Given the description of an element on the screen output the (x, y) to click on. 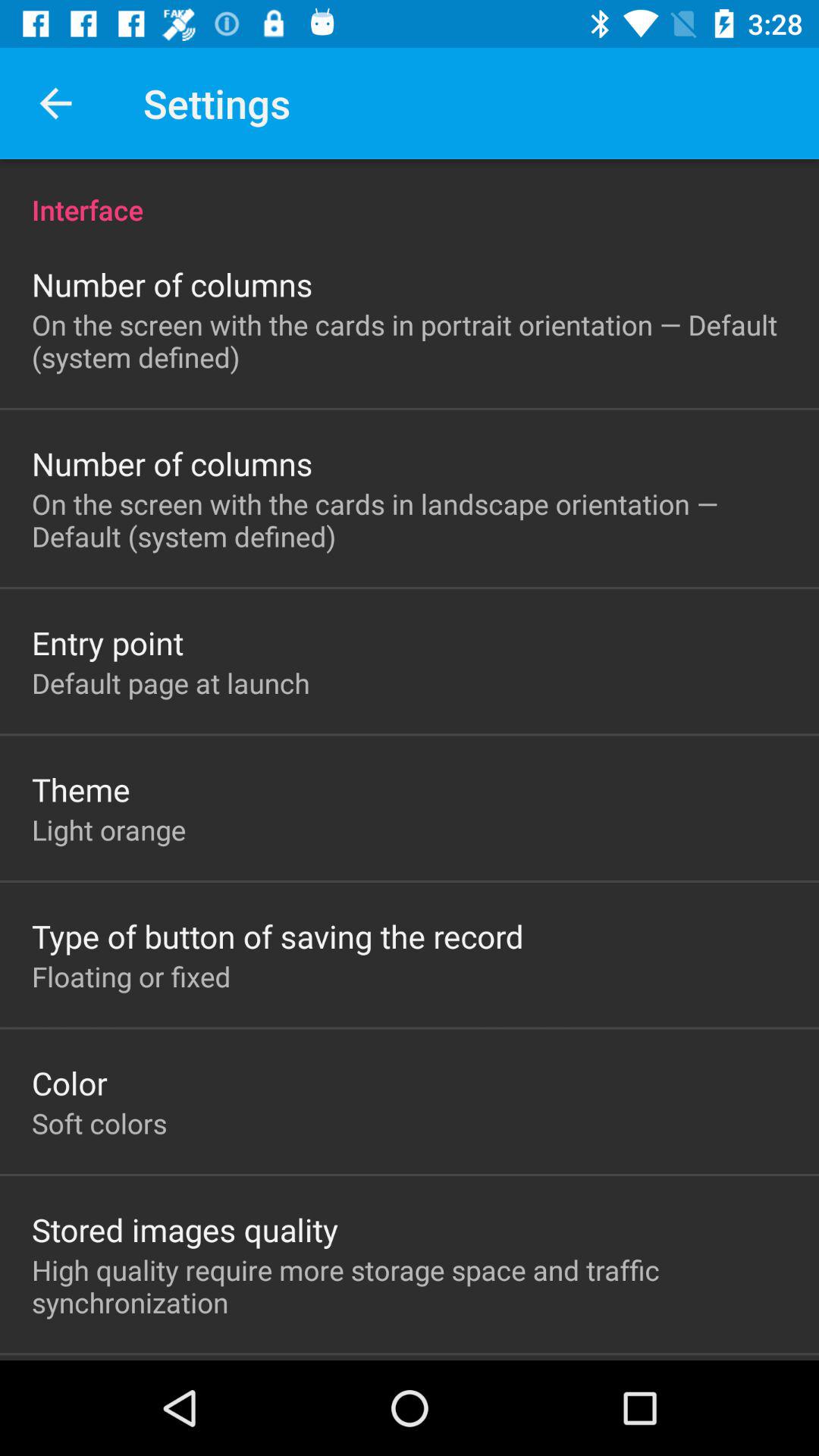
launch the item above interface (55, 103)
